Given the description of an element on the screen output the (x, y) to click on. 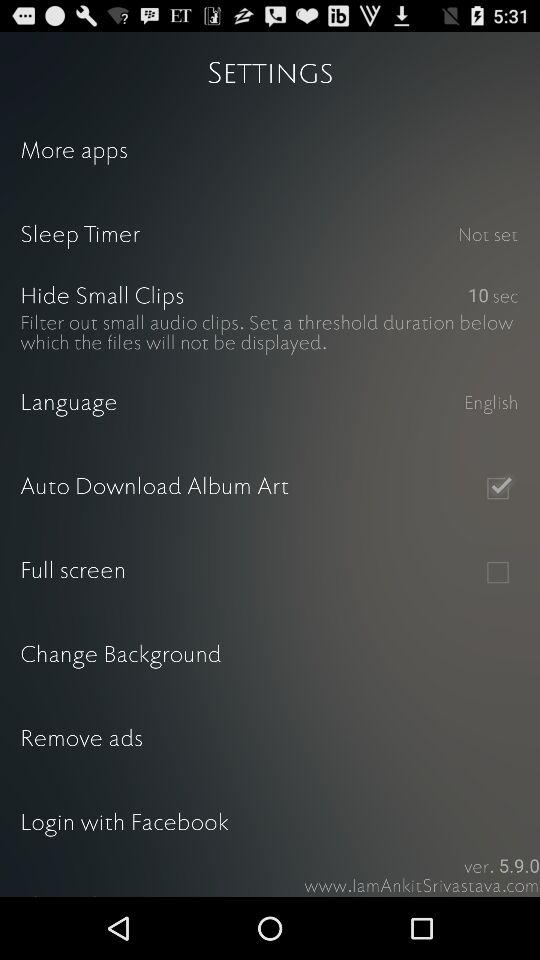
swipe until more apps icon (270, 152)
